Given the description of an element on the screen output the (x, y) to click on. 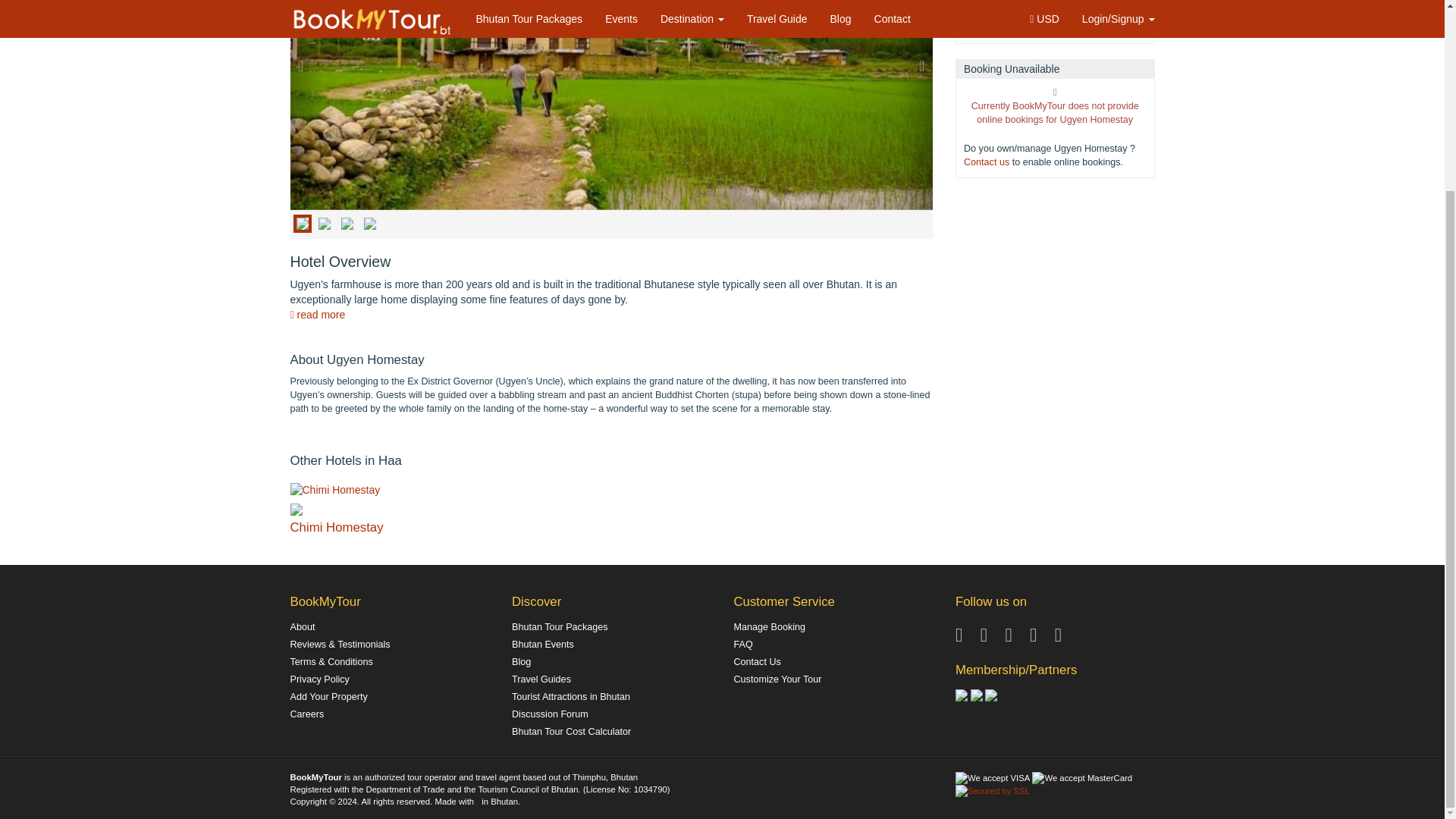
Tourism Council of Bhutan (961, 694)
Bhutan Airlines (991, 694)
DrukAir - Royal Bhutan Airlines (976, 694)
